Given the description of an element on the screen output the (x, y) to click on. 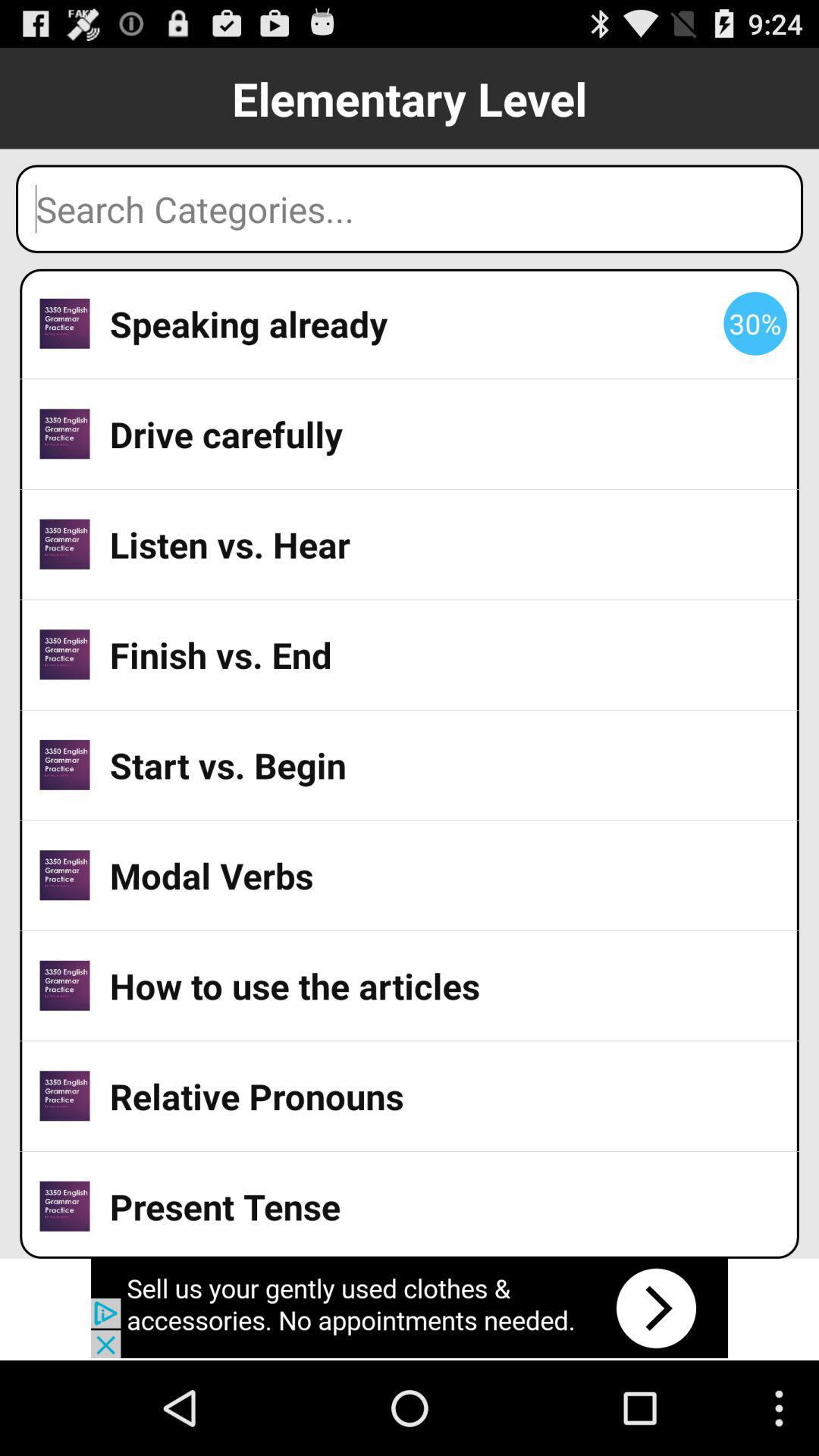
search bar (409, 208)
